Given the description of an element on the screen output the (x, y) to click on. 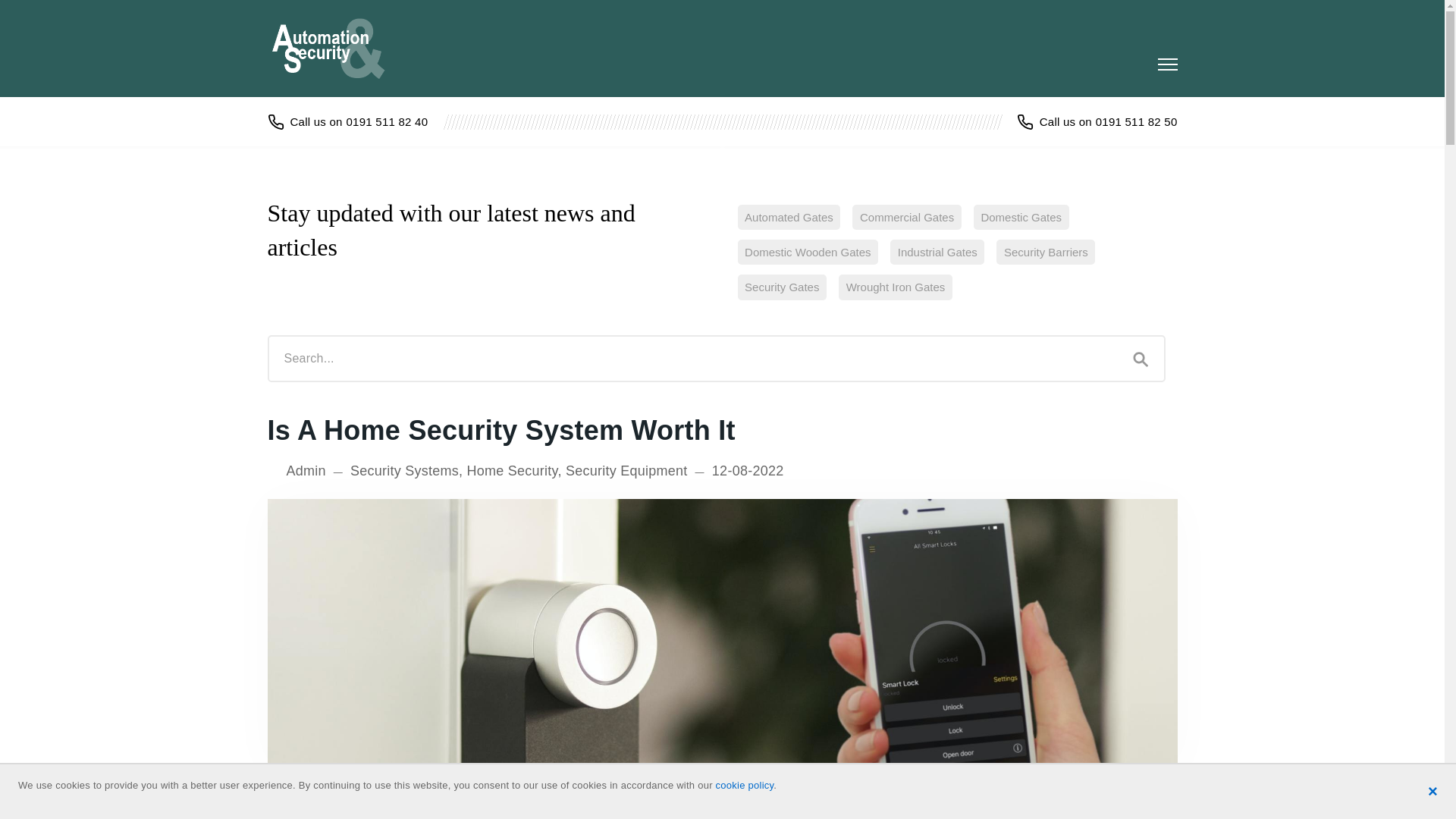
Domestic Gates (1021, 217)
Domestic Wooden Gates (806, 251)
Commercial Gates (905, 217)
Wrought Iron Gates (895, 286)
Security Barriers (1044, 251)
0191 511 82 40 (347, 121)
Home (336, 48)
Navigation (1166, 64)
Security Gates (781, 286)
Industrial Gates (936, 251)
Search (1140, 358)
Search (1140, 358)
0191 511 82 50 (1096, 121)
Automated Gates (788, 217)
